Given the description of an element on the screen output the (x, y) to click on. 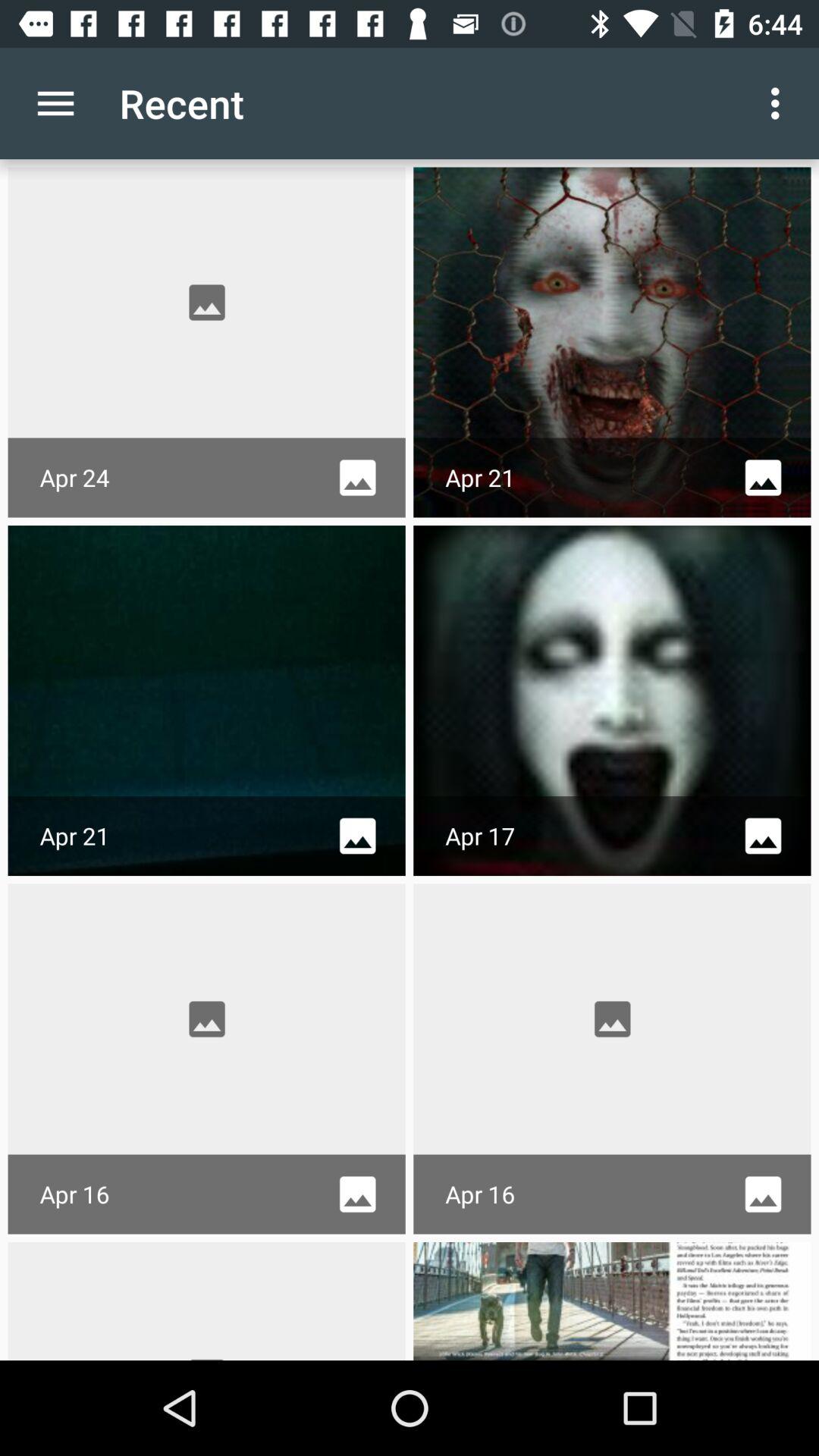
click the item next to the recent (55, 103)
